Given the description of an element on the screen output the (x, y) to click on. 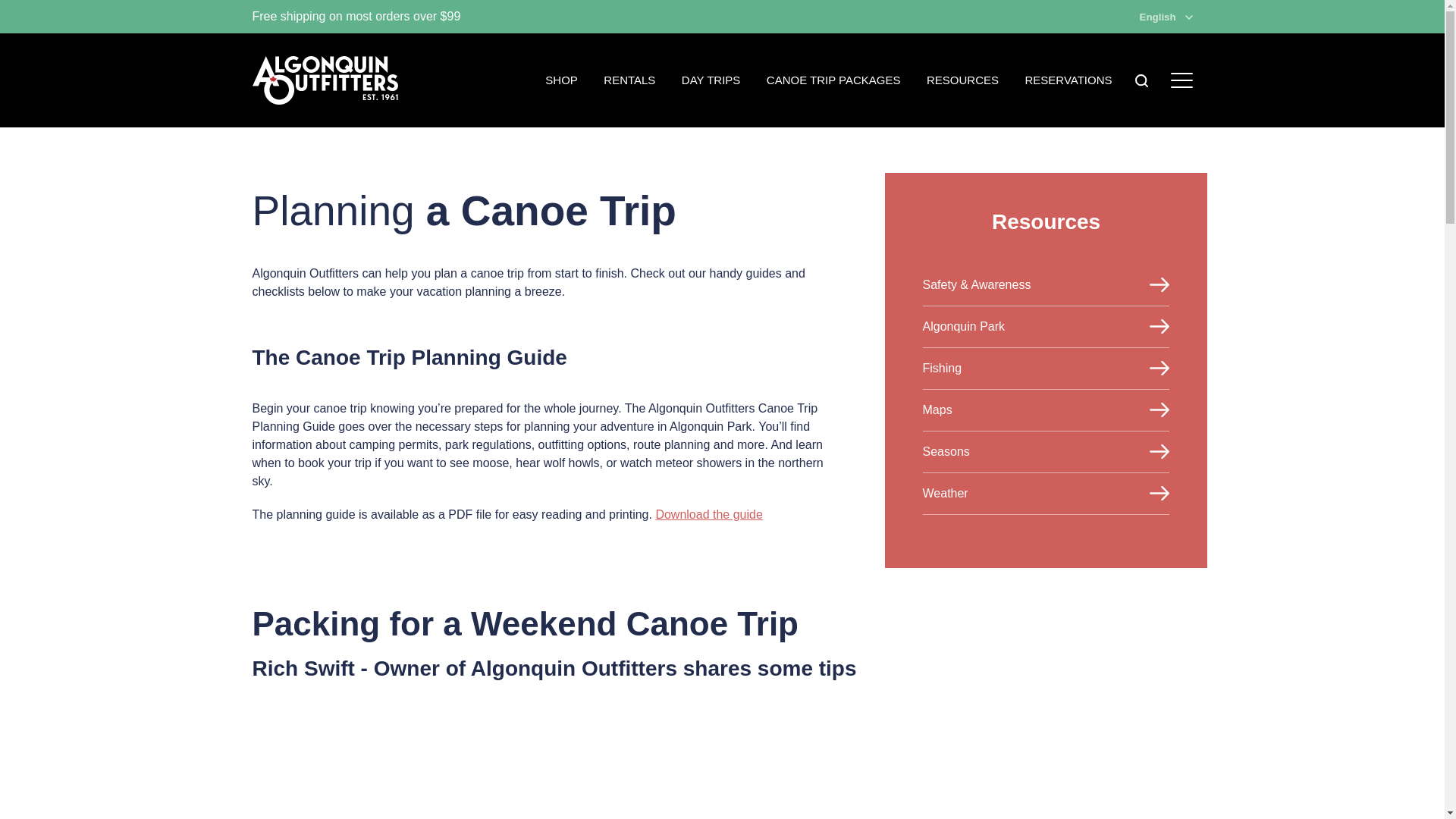
DAY TRIPS (711, 79)
SHOP (561, 79)
RENTALS (629, 79)
RESOURCES (962, 79)
CANOE TRIP PACKAGES (834, 79)
RESERVATIONS (1068, 79)
